Given the description of an element on the screen output the (x, y) to click on. 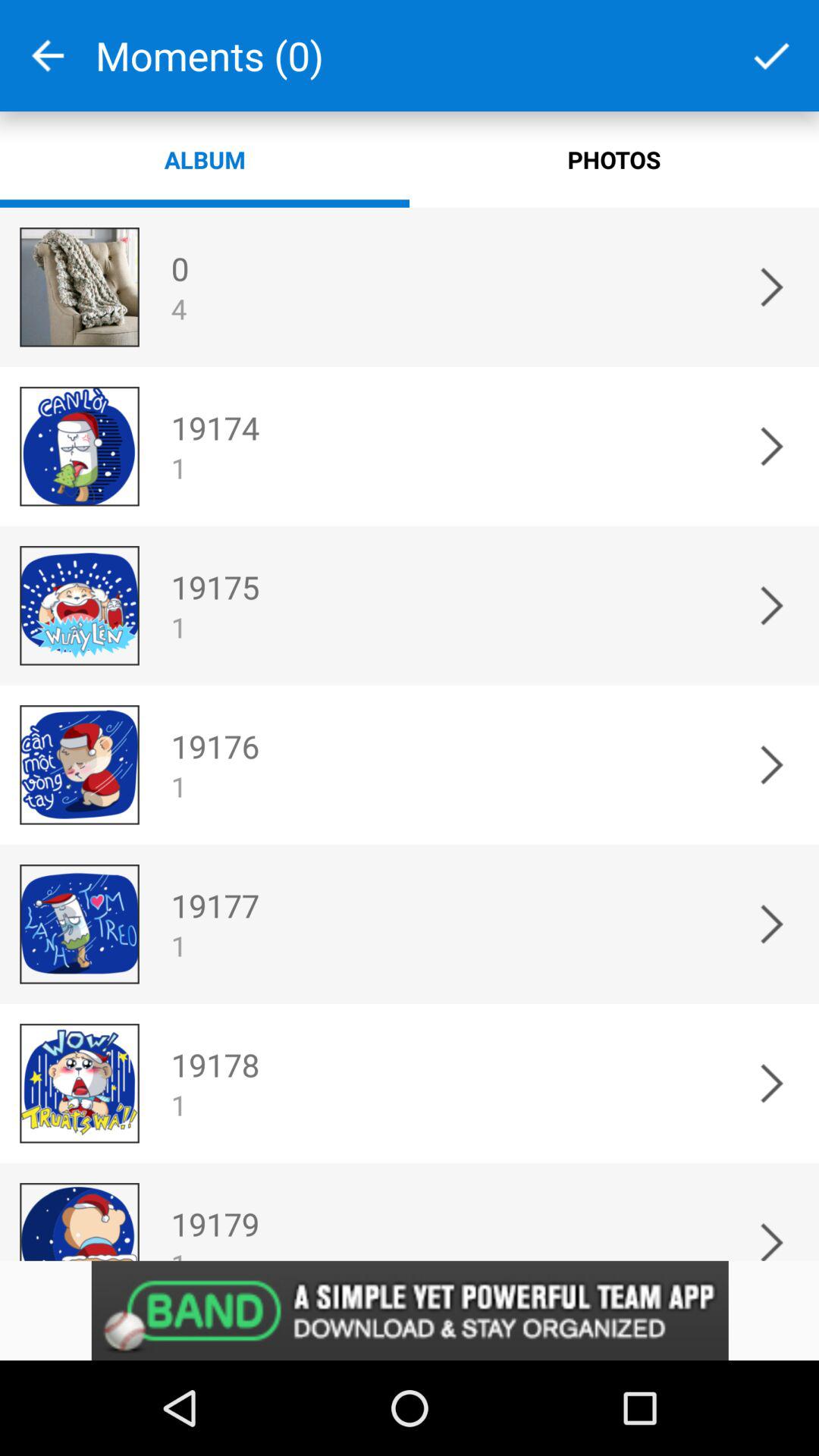
advertisement website (409, 1310)
